Given the description of an element on the screen output the (x, y) to click on. 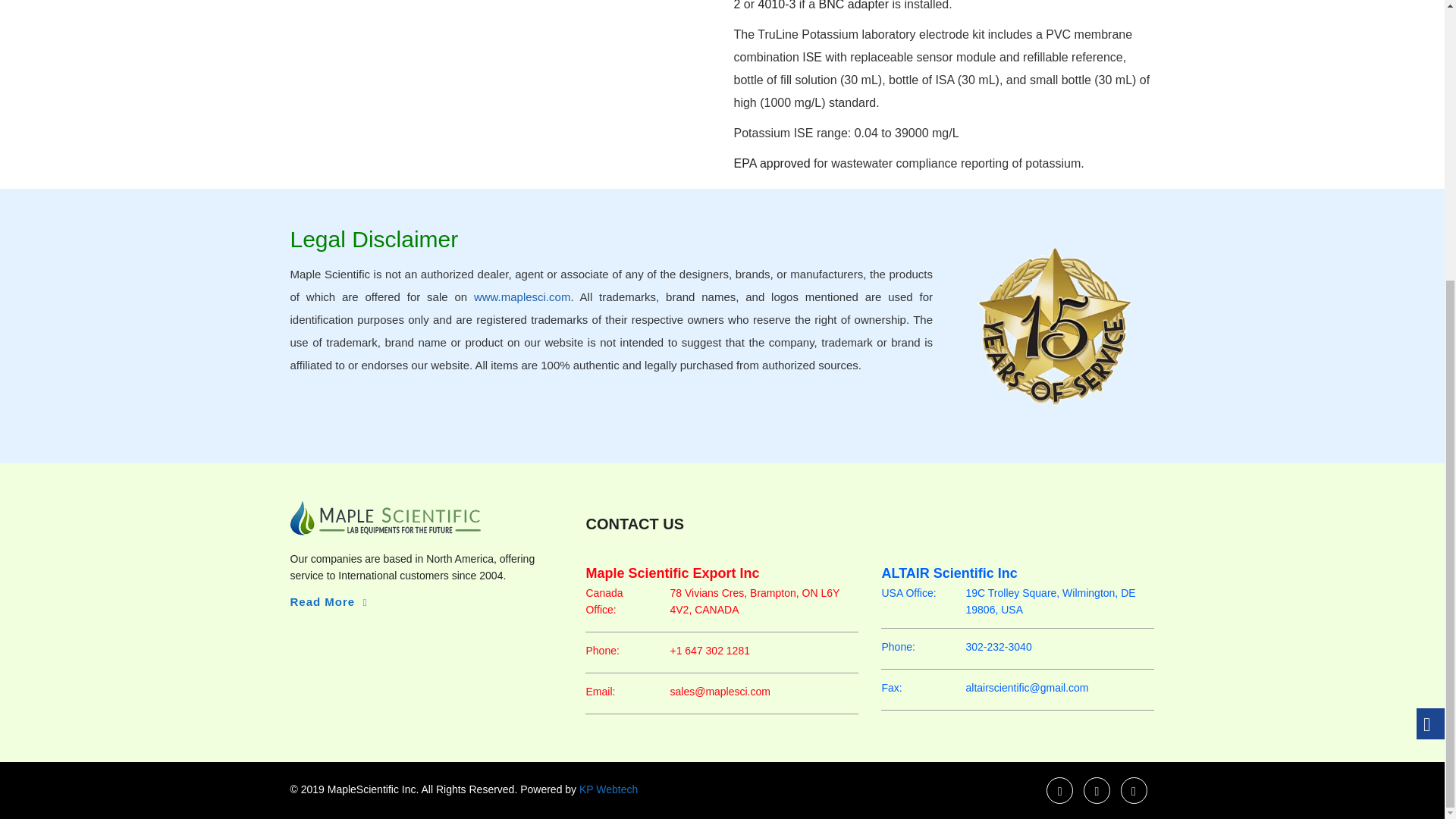
Facebook (1059, 790)
seo company in chennai (606, 788)
Twitter (1096, 790)
instagram (1134, 790)
